Given the description of an element on the screen output the (x, y) to click on. 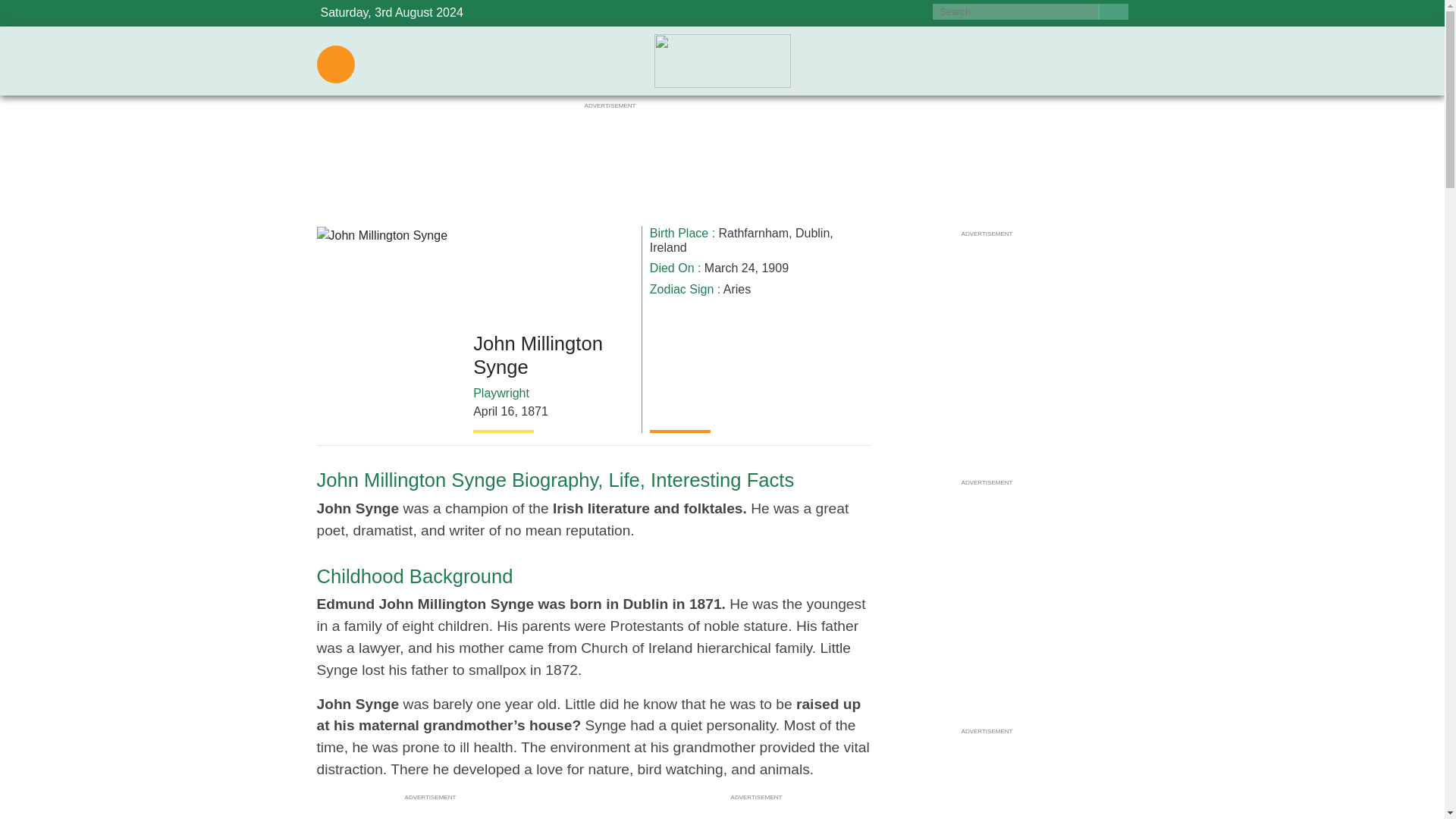
Dublin (811, 232)
Aries (737, 288)
March 24 (729, 267)
1909 (775, 267)
Rathfarnham (754, 232)
1871 (534, 410)
Zodiac Sign (681, 288)
April 16 (493, 410)
Playwright (501, 392)
Ireland (668, 246)
